Given the description of an element on the screen output the (x, y) to click on. 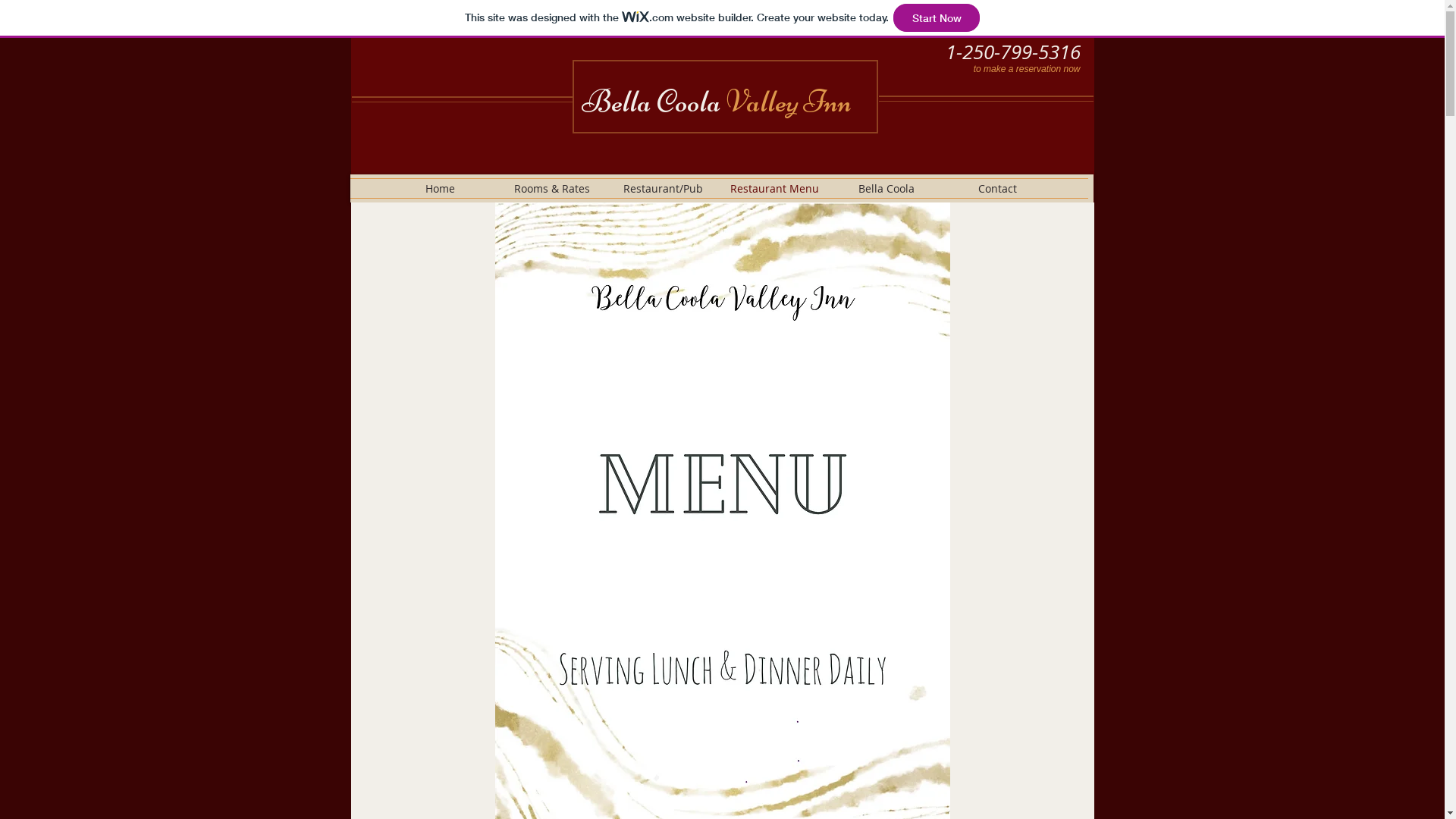
Restaurant/Pub Element type: text (662, 187)
Contact Element type: text (997, 187)
Restaurant Menu Element type: text (774, 187)
Home Element type: text (439, 187)
Rooms & Rates Element type: text (551, 187)
Bella Coola Element type: text (885, 187)
